Given the description of an element on the screen output the (x, y) to click on. 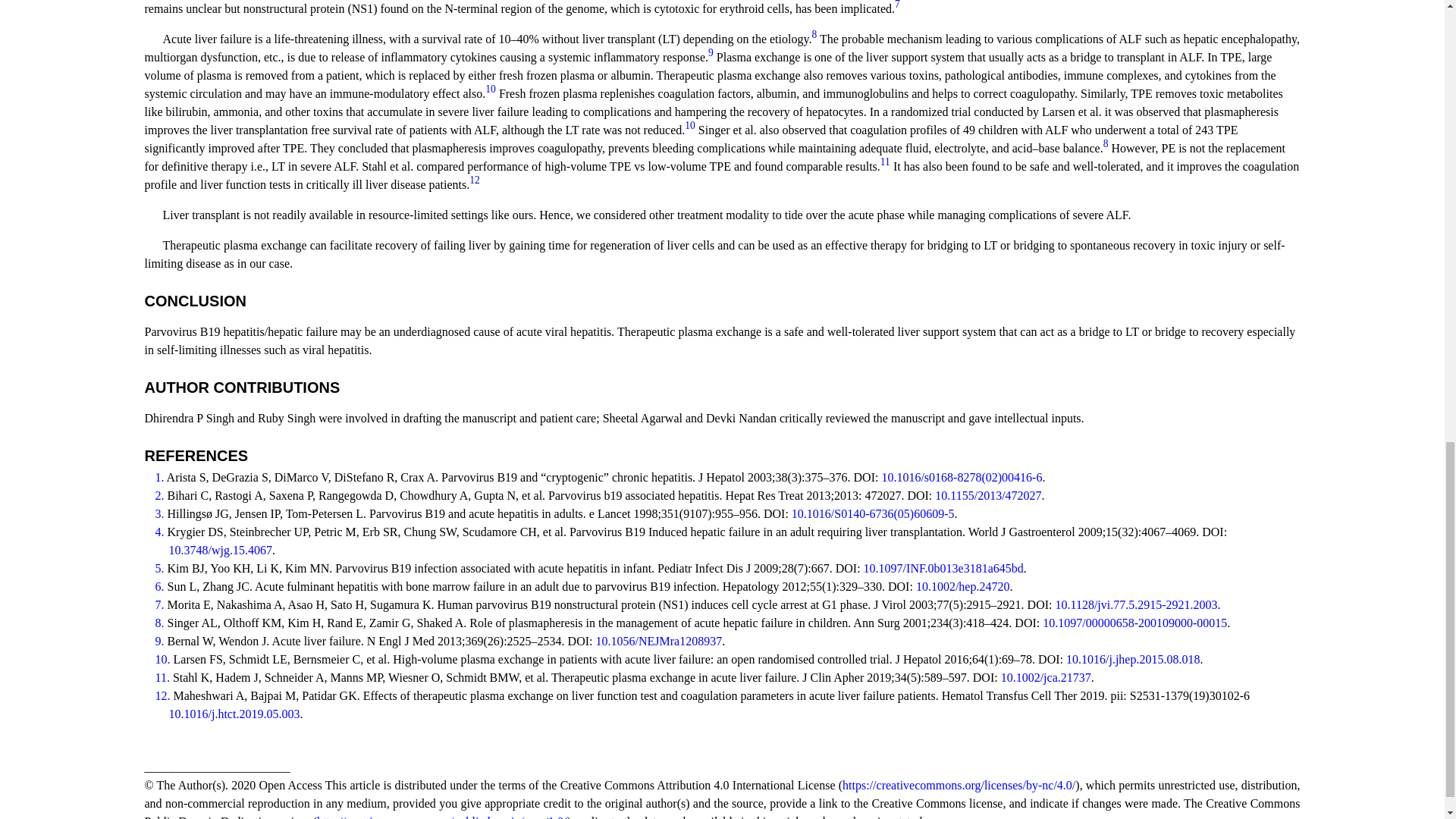
10 (689, 125)
12 (474, 179)
10 (490, 89)
